Given the description of an element on the screen output the (x, y) to click on. 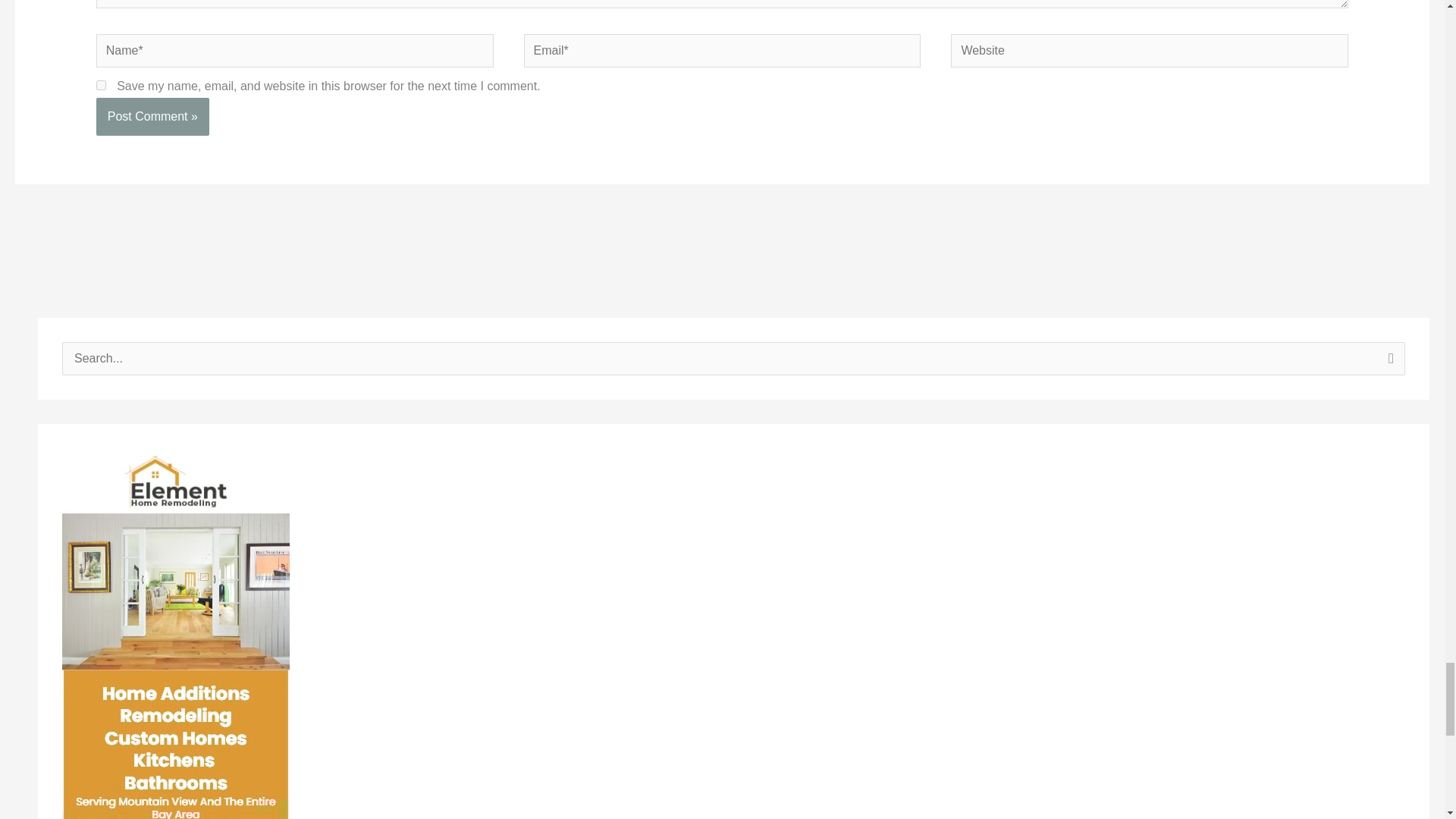
yes (101, 114)
